Given the description of an element on the screen output the (x, y) to click on. 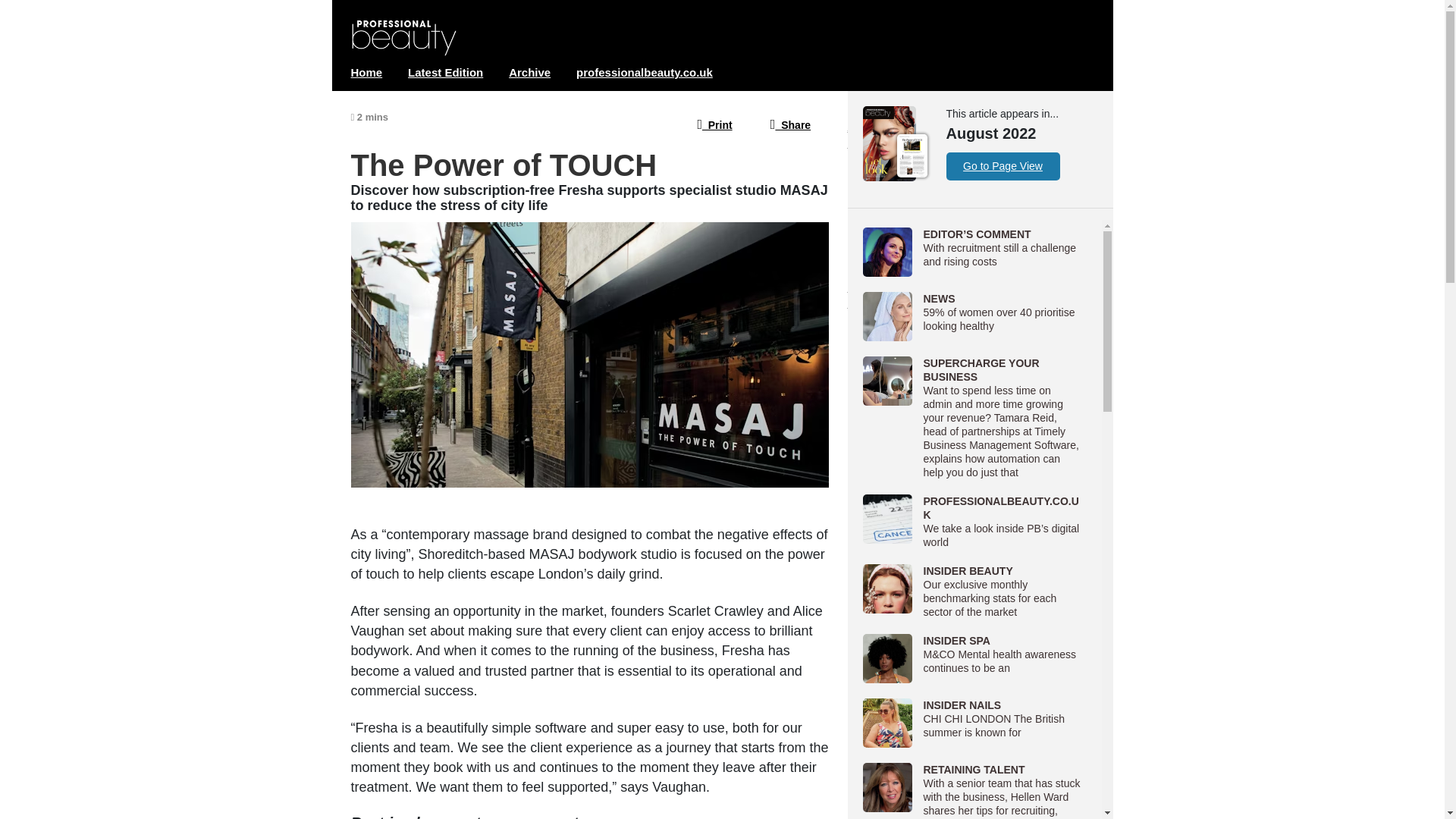
Share article (790, 122)
professionalbeauty.co.uk (644, 72)
  Share (790, 122)
Archive (529, 72)
View in reader (722, 231)
Print article (714, 122)
  Print (714, 122)
Latest Edition (445, 72)
View in reader (889, 142)
Home (365, 72)
